Given the description of an element on the screen output the (x, y) to click on. 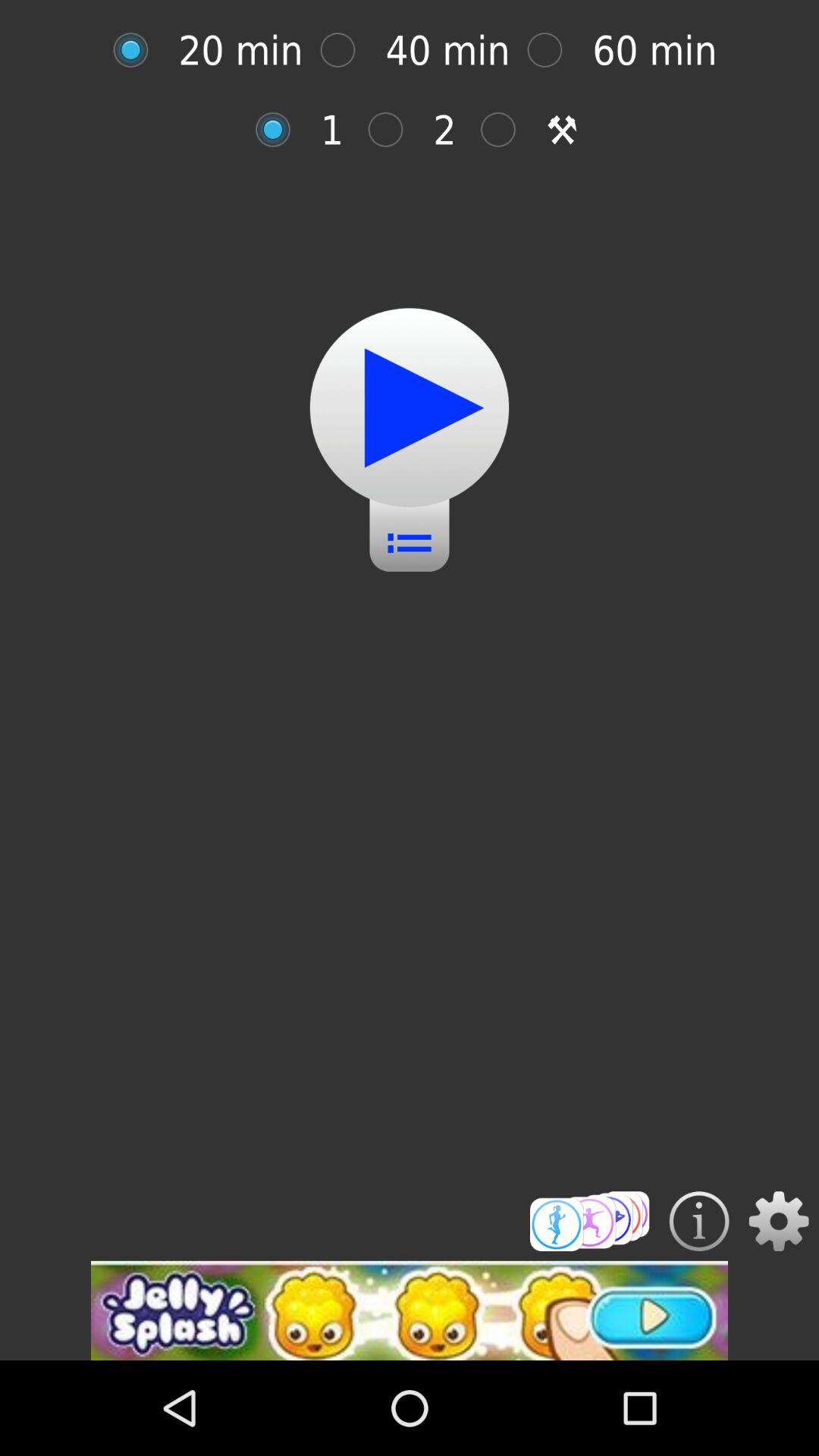
view yoga poses (589, 1221)
